Given the description of an element on the screen output the (x, y) to click on. 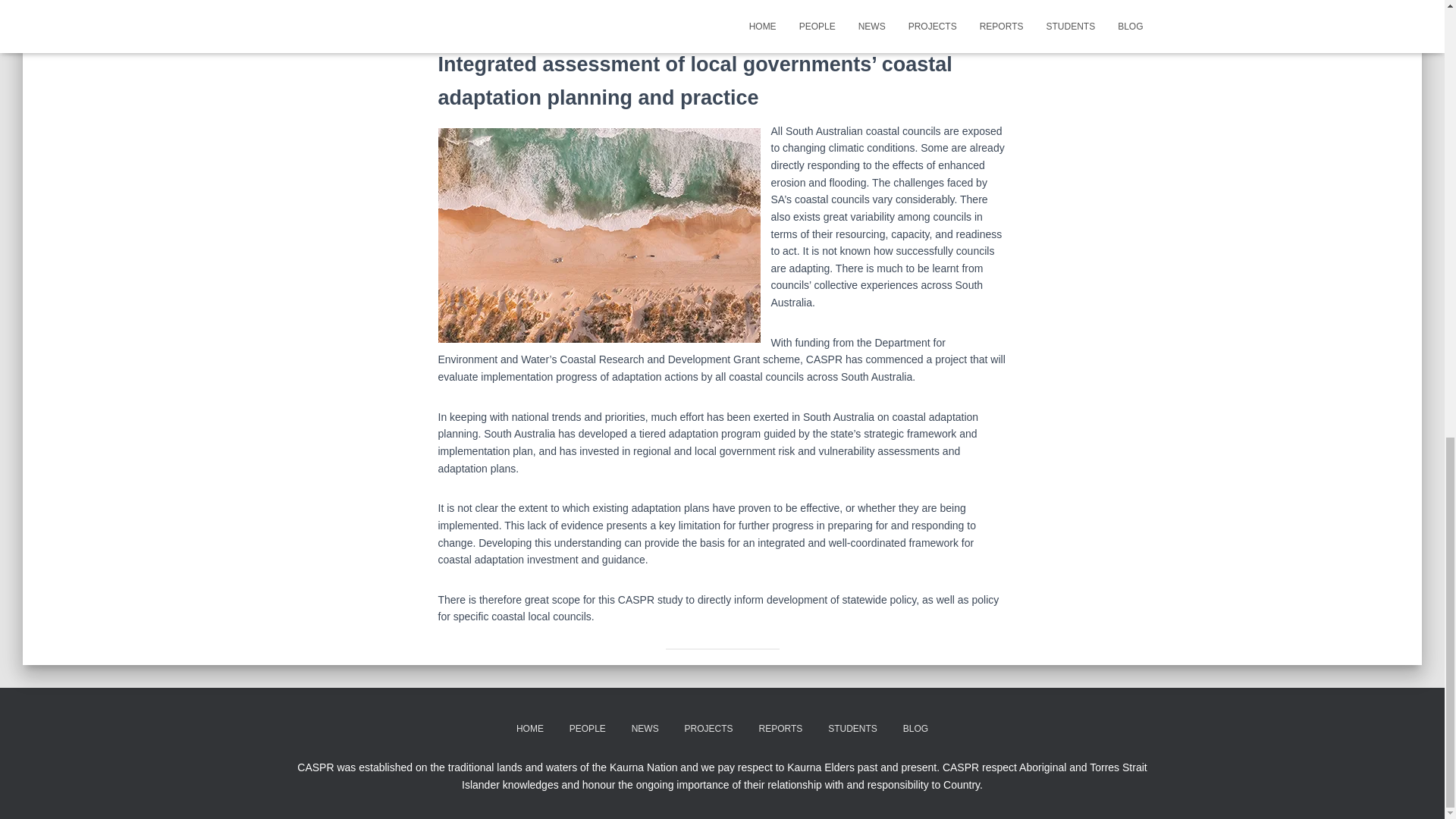
STUDENTS (852, 728)
HOME (529, 728)
PEOPLE (587, 728)
NEWS (644, 728)
BLOG (915, 728)
PROJECTS (708, 728)
REPORTS (780, 728)
